Given the description of an element on the screen output the (x, y) to click on. 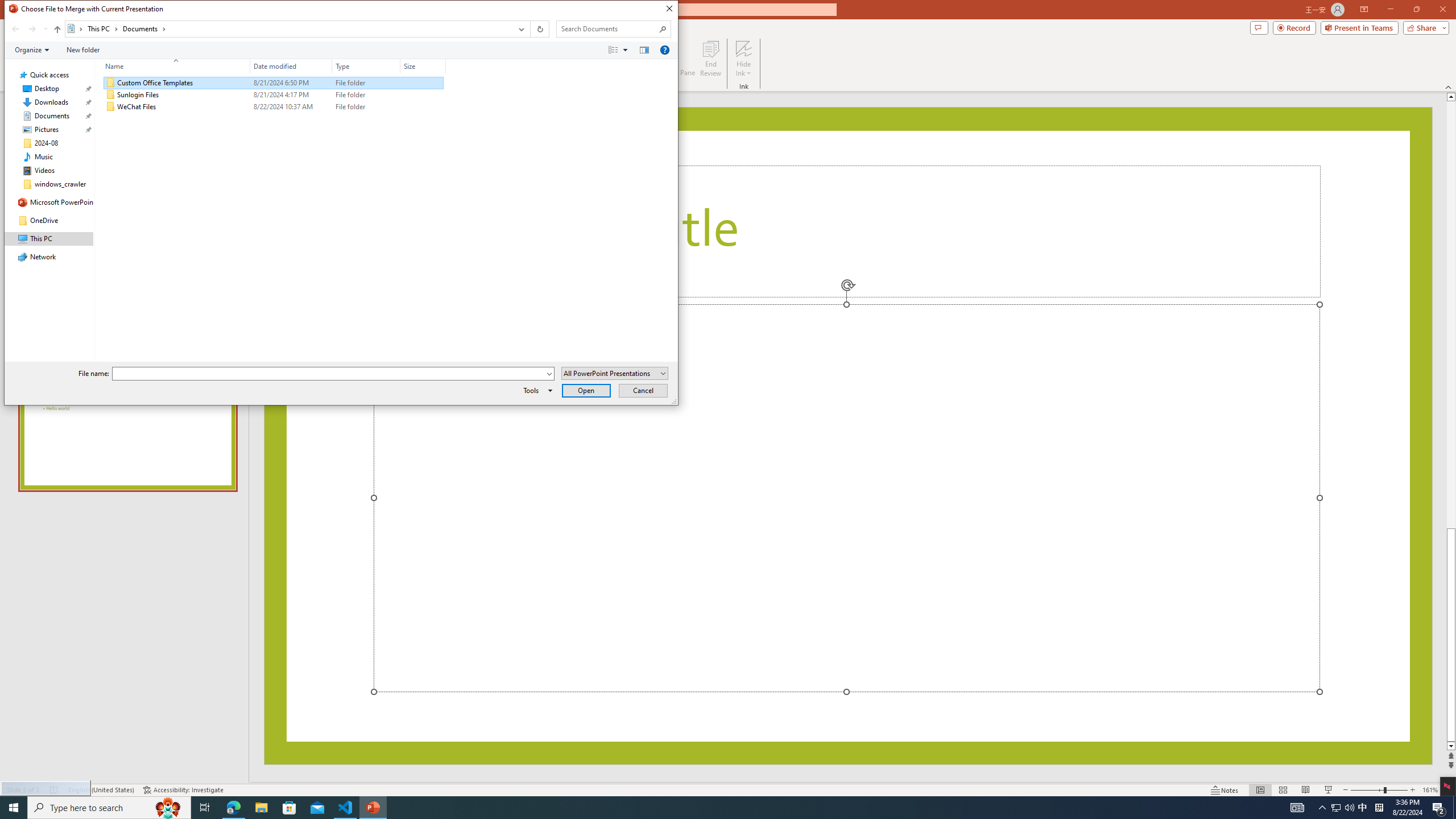
Views (620, 49)
Command Module (341, 49)
Class: UIImage (111, 106)
Type (365, 106)
This PC (102, 28)
Tools (535, 390)
